Given the description of an element on the screen output the (x, y) to click on. 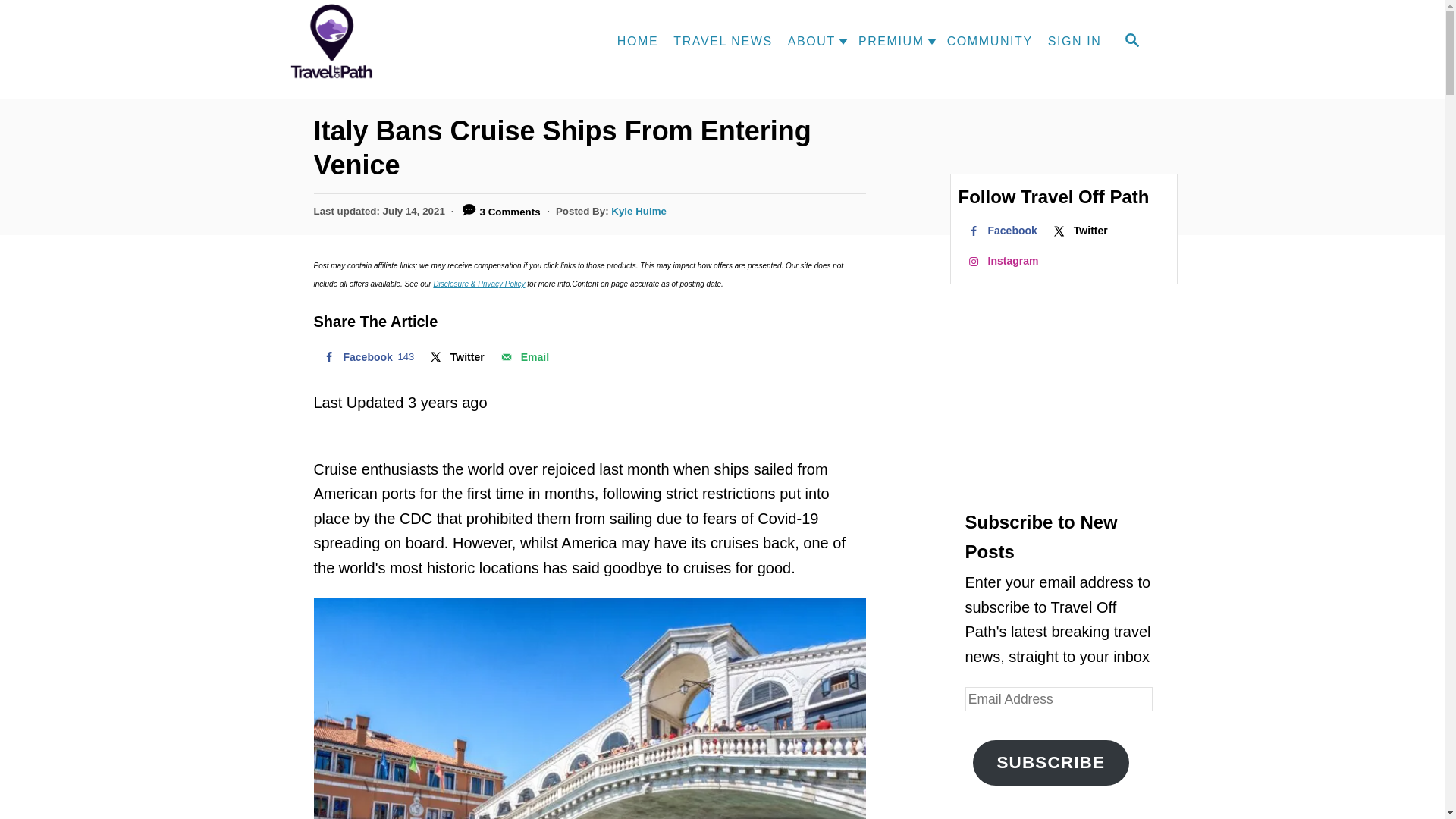
Send over email (524, 357)
HOME (637, 41)
Share on X (456, 357)
Email (524, 357)
SEARCH (1131, 40)
Twitter (456, 357)
Follow on X (1079, 230)
Share on Facebook (367, 357)
Kyle Hulme (638, 211)
PREMIUM (887, 41)
